Given the description of an element on the screen output the (x, y) to click on. 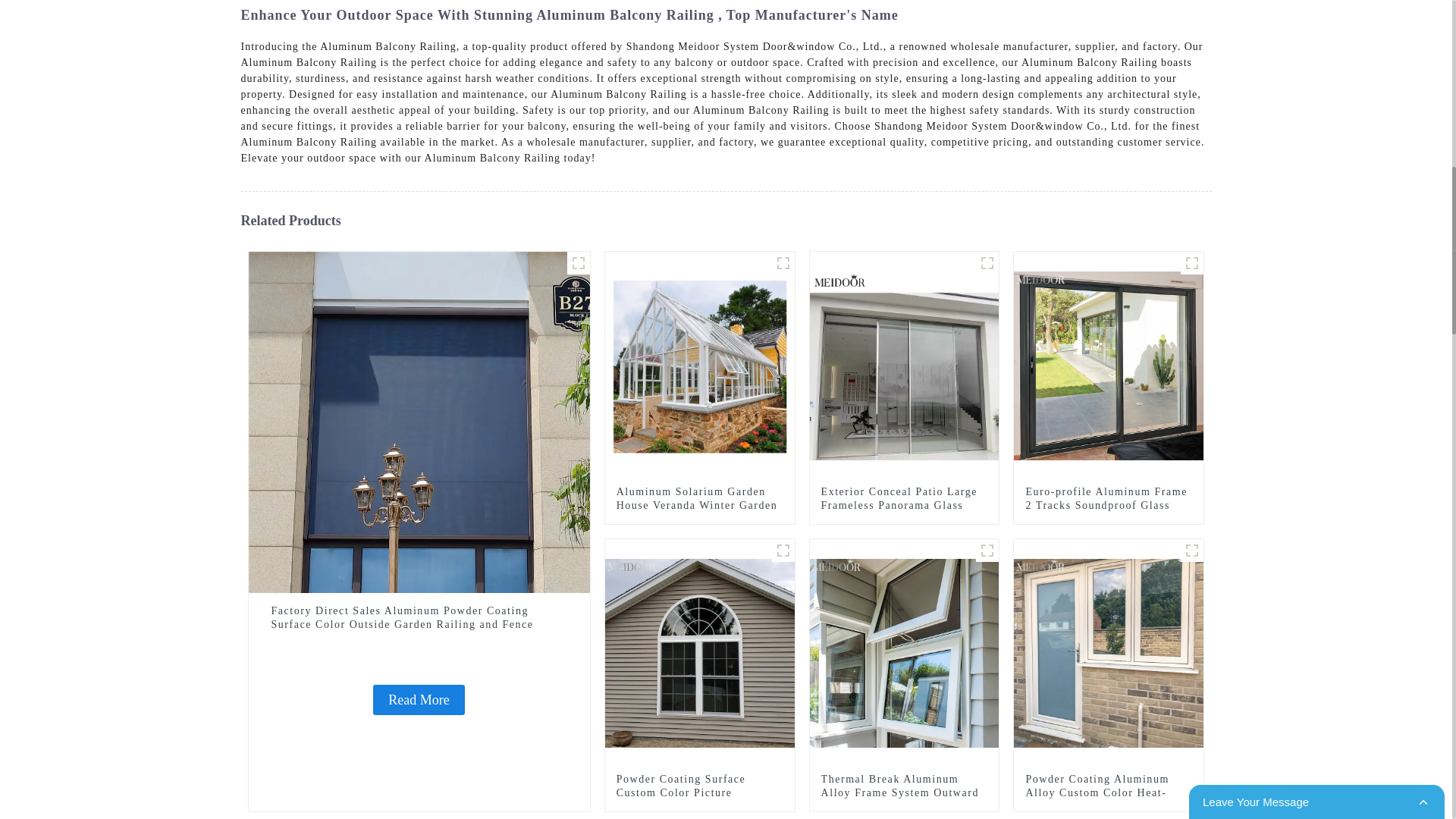
17121251919860 (782, 262)
17168639464260 (986, 262)
